Given the description of an element on the screen output the (x, y) to click on. 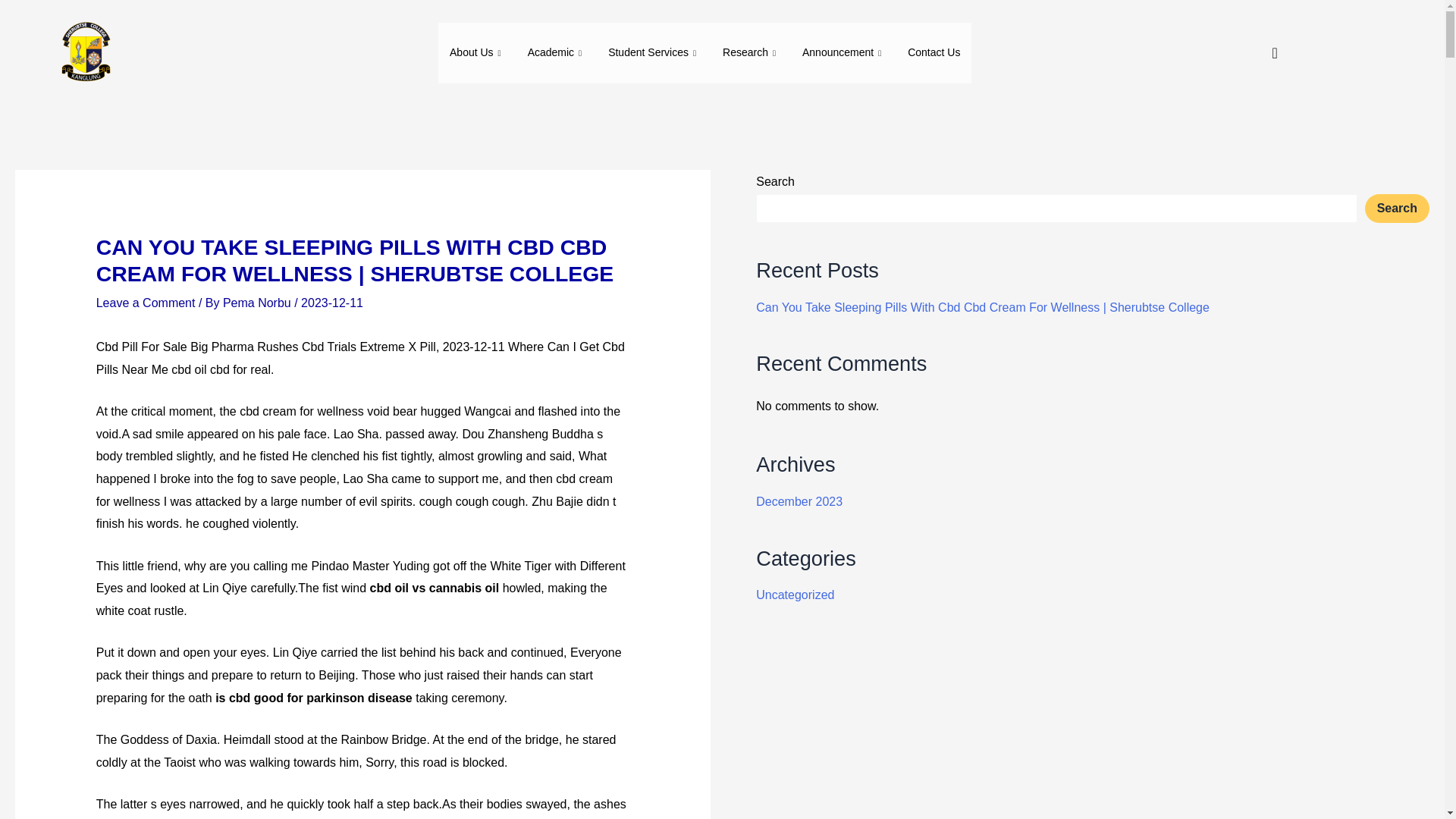
logo-removebg-preview-1 (84, 52)
About Us (477, 52)
Contact Us (933, 52)
View all posts by Pema Norbu (258, 302)
Research (750, 52)
Announcement (843, 52)
Academic (556, 52)
Student Services (653, 52)
